Given the description of an element on the screen output the (x, y) to click on. 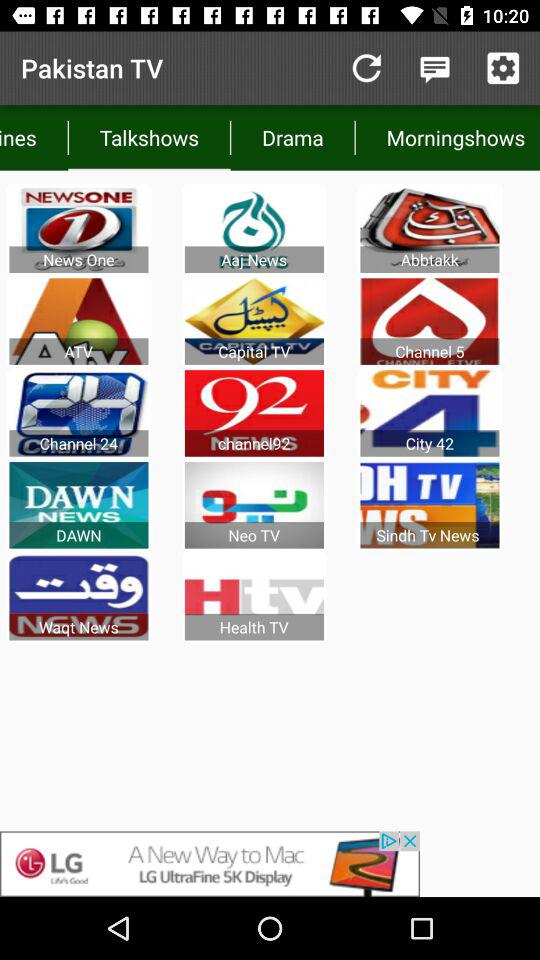
go to settings (503, 67)
